Given the description of an element on the screen output the (x, y) to click on. 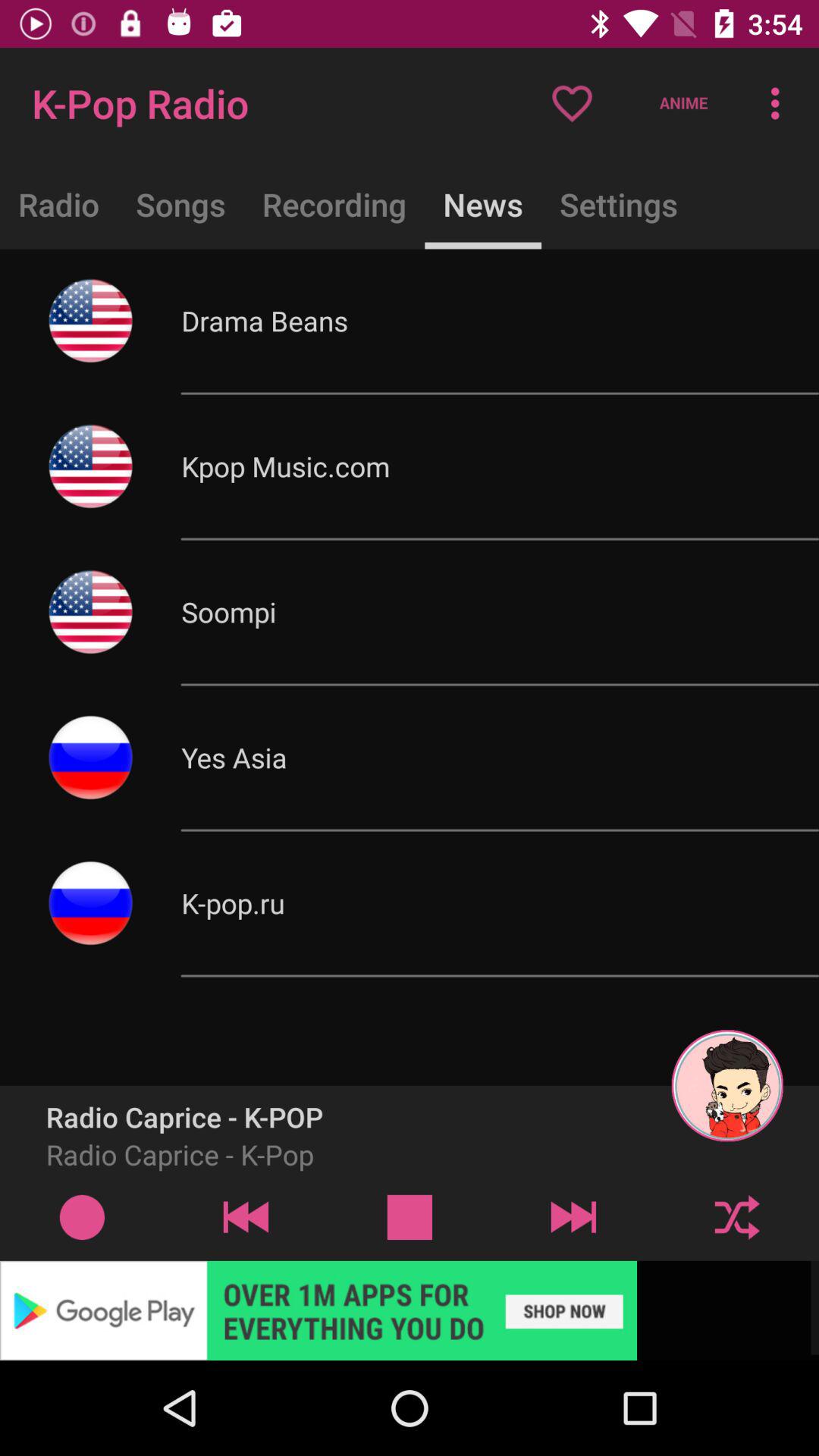
pause play (409, 1216)
